Given the description of an element on the screen output the (x, y) to click on. 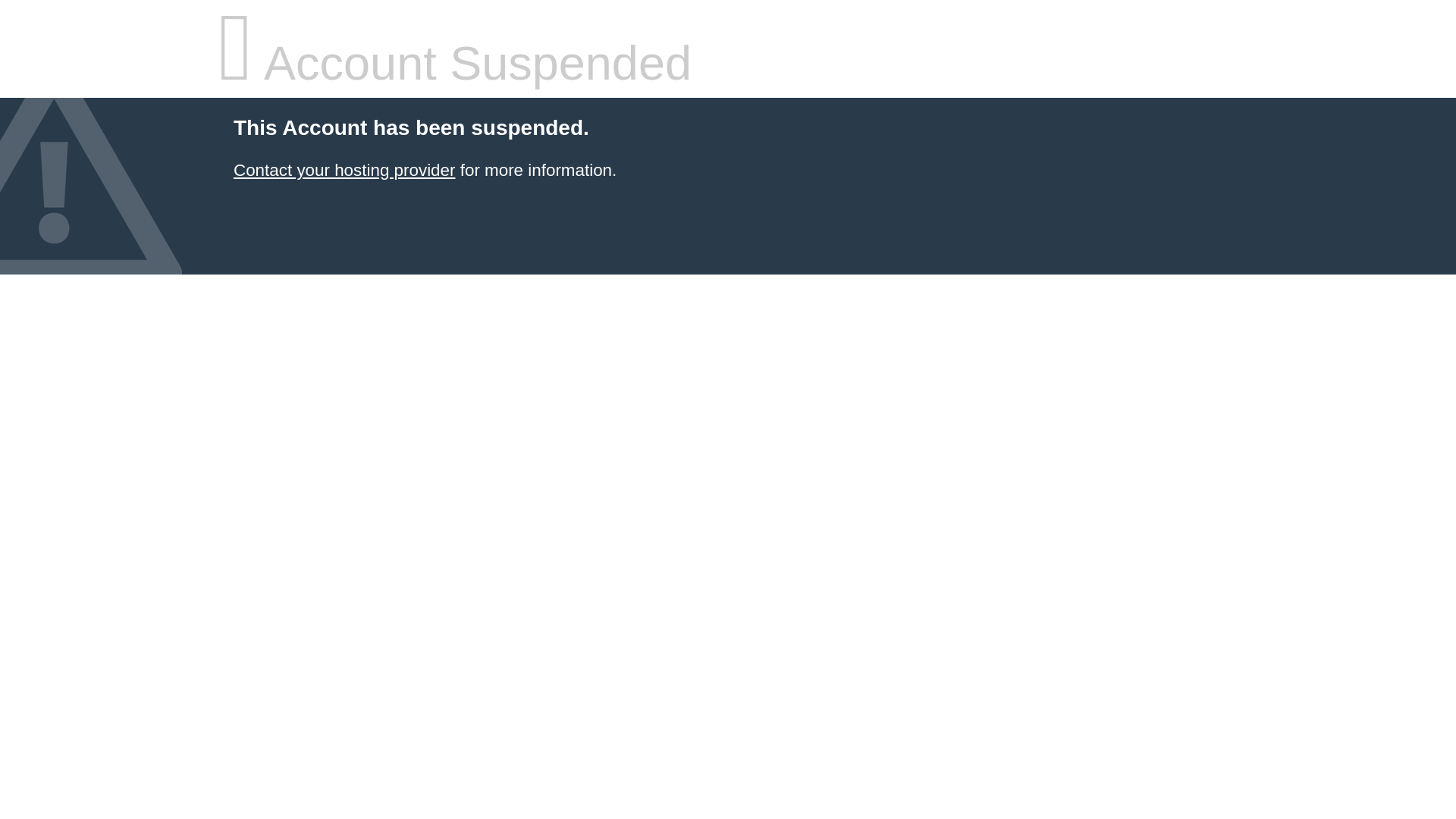
Contact your hosting provider (343, 169)
